Given the description of an element on the screen output the (x, y) to click on. 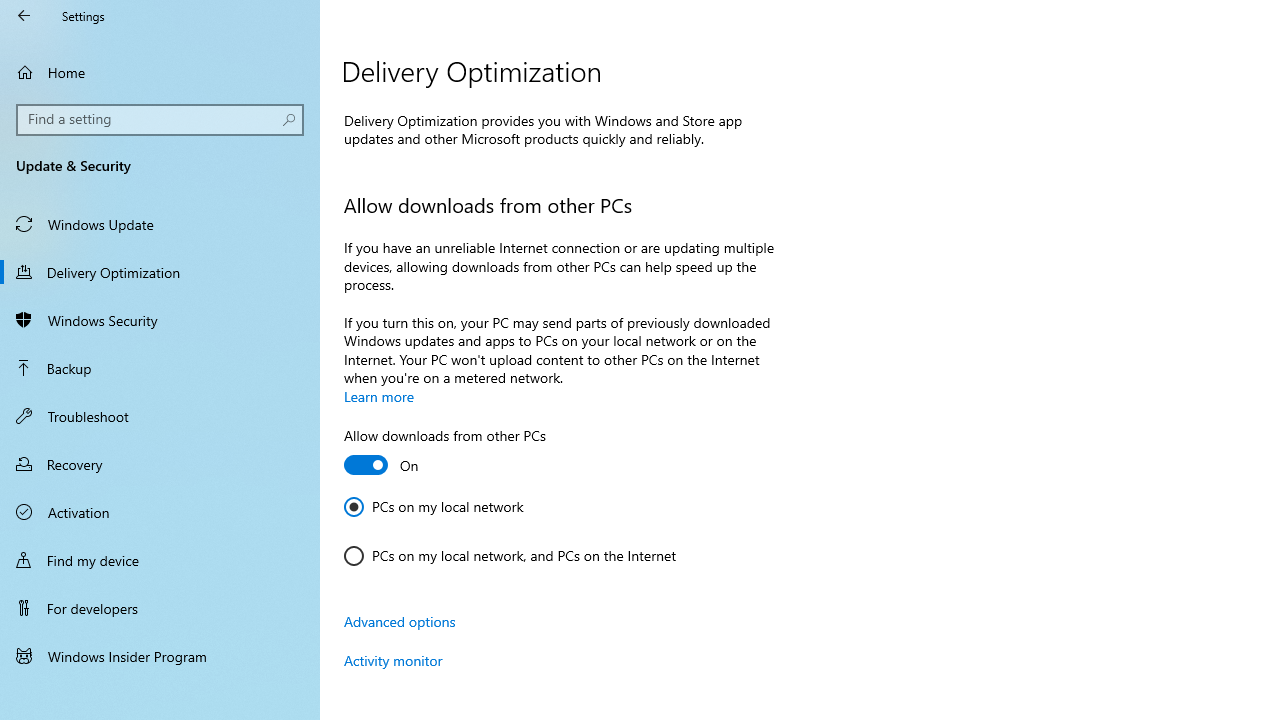
PCs on my local network, and PCs on the Internet (510, 555)
Advanced options (399, 621)
Find my device (160, 559)
Windows Insider Program (160, 655)
Recovery (160, 463)
Learn more (379, 396)
Windows Security (160, 319)
Back (24, 15)
Windows Update (160, 223)
Activation (160, 511)
Backup (160, 367)
Delivery Optimization (160, 271)
Search box, Find a setting (160, 119)
Activity monitor (393, 660)
Home (160, 71)
